Given the description of an element on the screen output the (x, y) to click on. 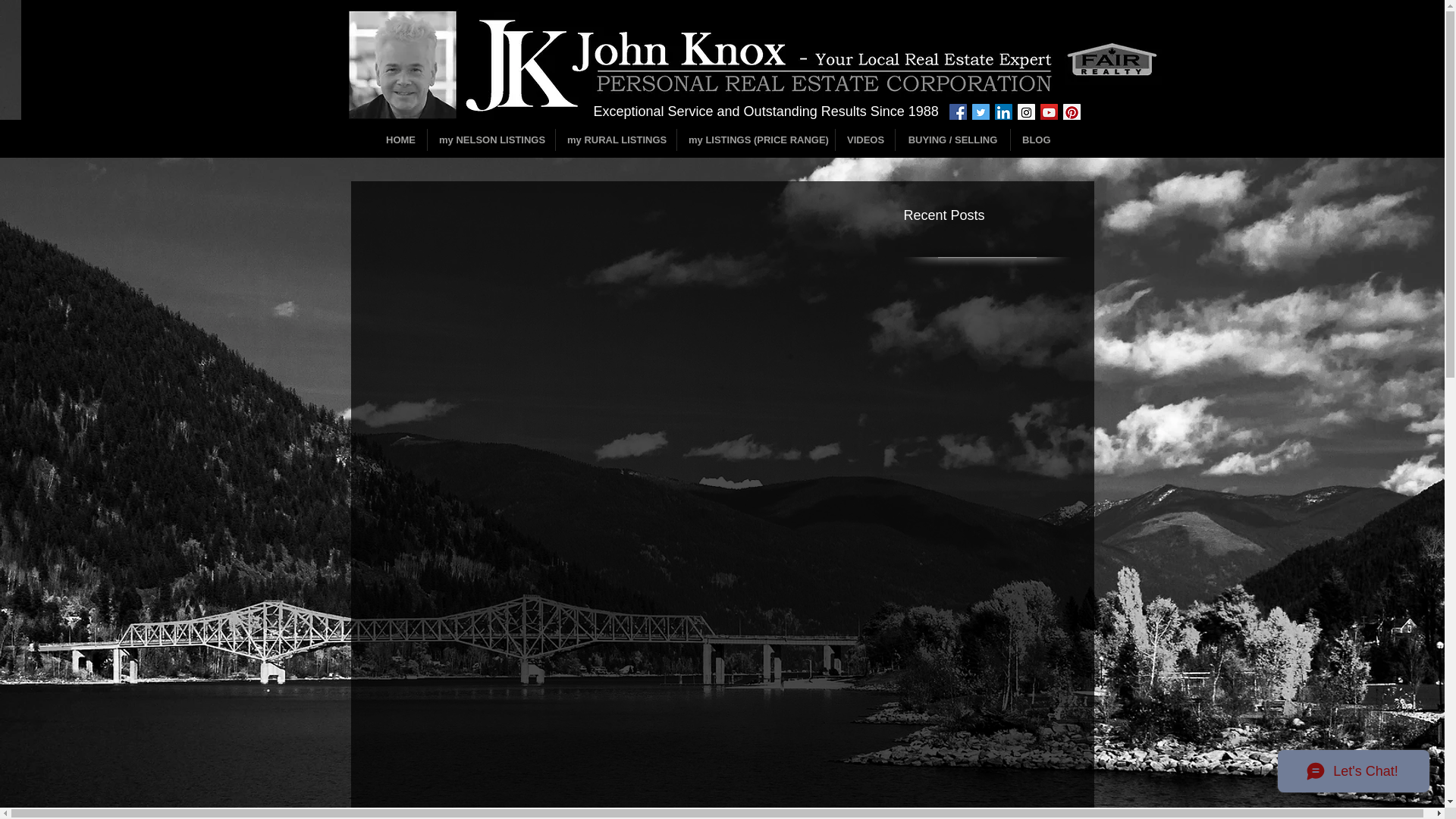
Embedded Content (975, 85)
Embedded Content (542, 114)
Facebook Like (417, 597)
Wix Chat (1356, 774)
my RURAL LISTINGS (616, 139)
my NELSON LISTINGS (491, 139)
HOME (400, 139)
Embedded Content (517, 55)
